Given the description of an element on the screen output the (x, y) to click on. 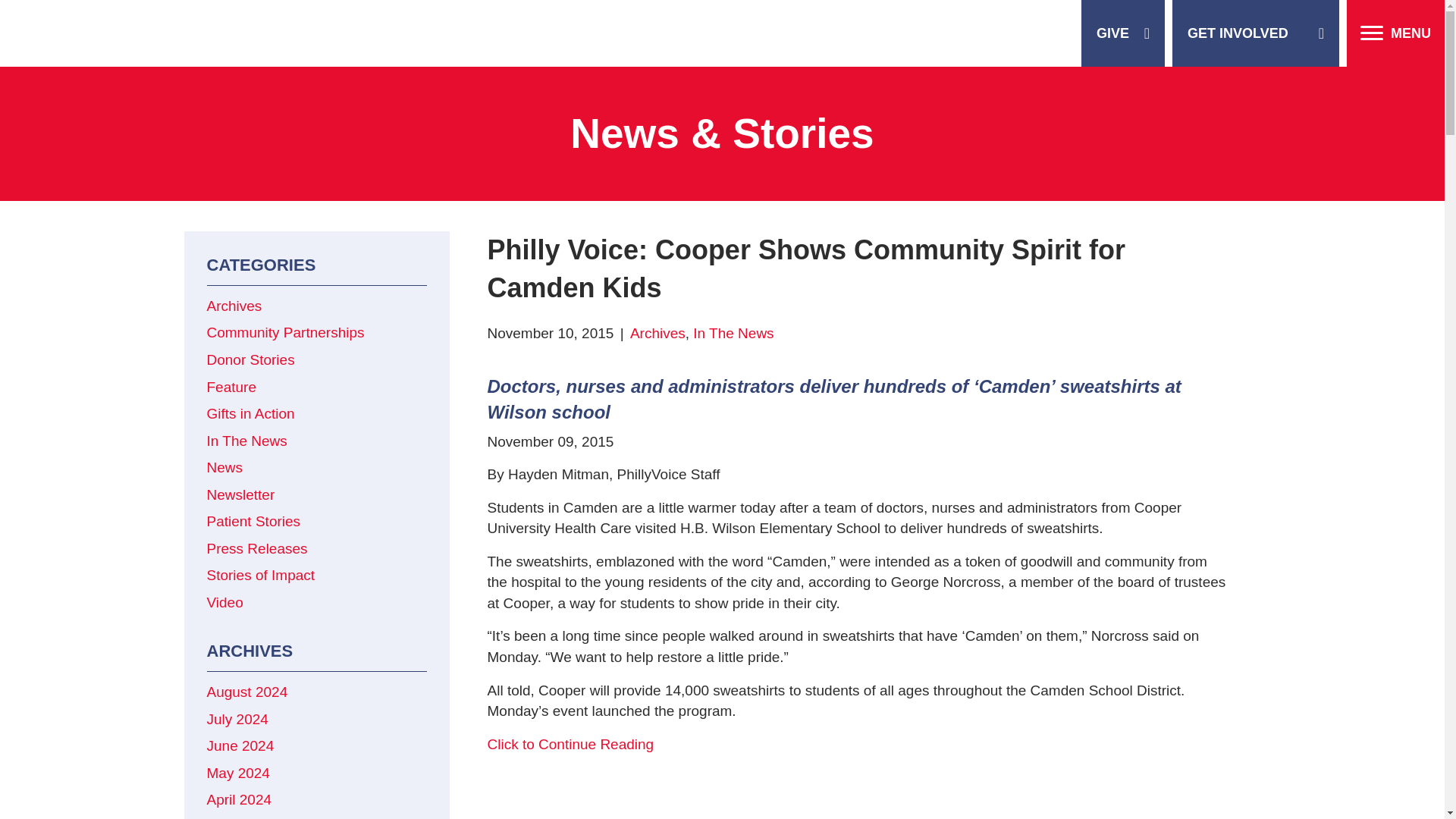
Cooper Shows Community Spirit for Camden Kids (569, 744)
MENU (1395, 32)
Cooper Foundation Upgraded RED 193 (98, 32)
